Given the description of an element on the screen output the (x, y) to click on. 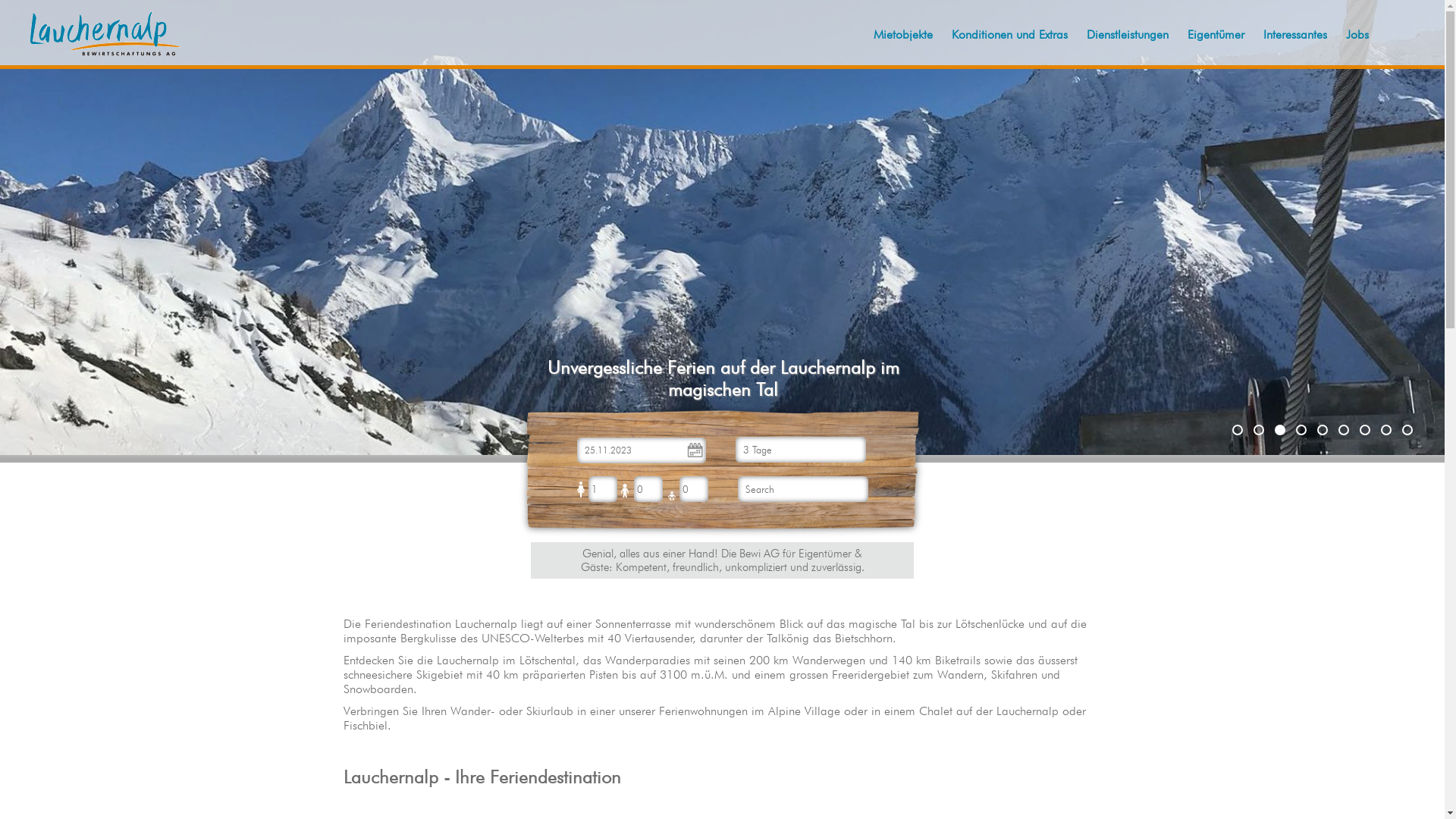
Interessantes Element type: text (1294, 34)
Kinder Element type: hover (624, 490)
Mietobjekte Element type: text (903, 34)
Kinder unter 6 Element type: hover (671, 495)
Search Element type: text (802, 489)
Erwachsene Element type: hover (580, 488)
Jobs Element type: text (1357, 34)
Konditionen und Extras Element type: text (1009, 34)
Dienstleistungen Element type: text (1127, 34)
